Given the description of an element on the screen output the (x, y) to click on. 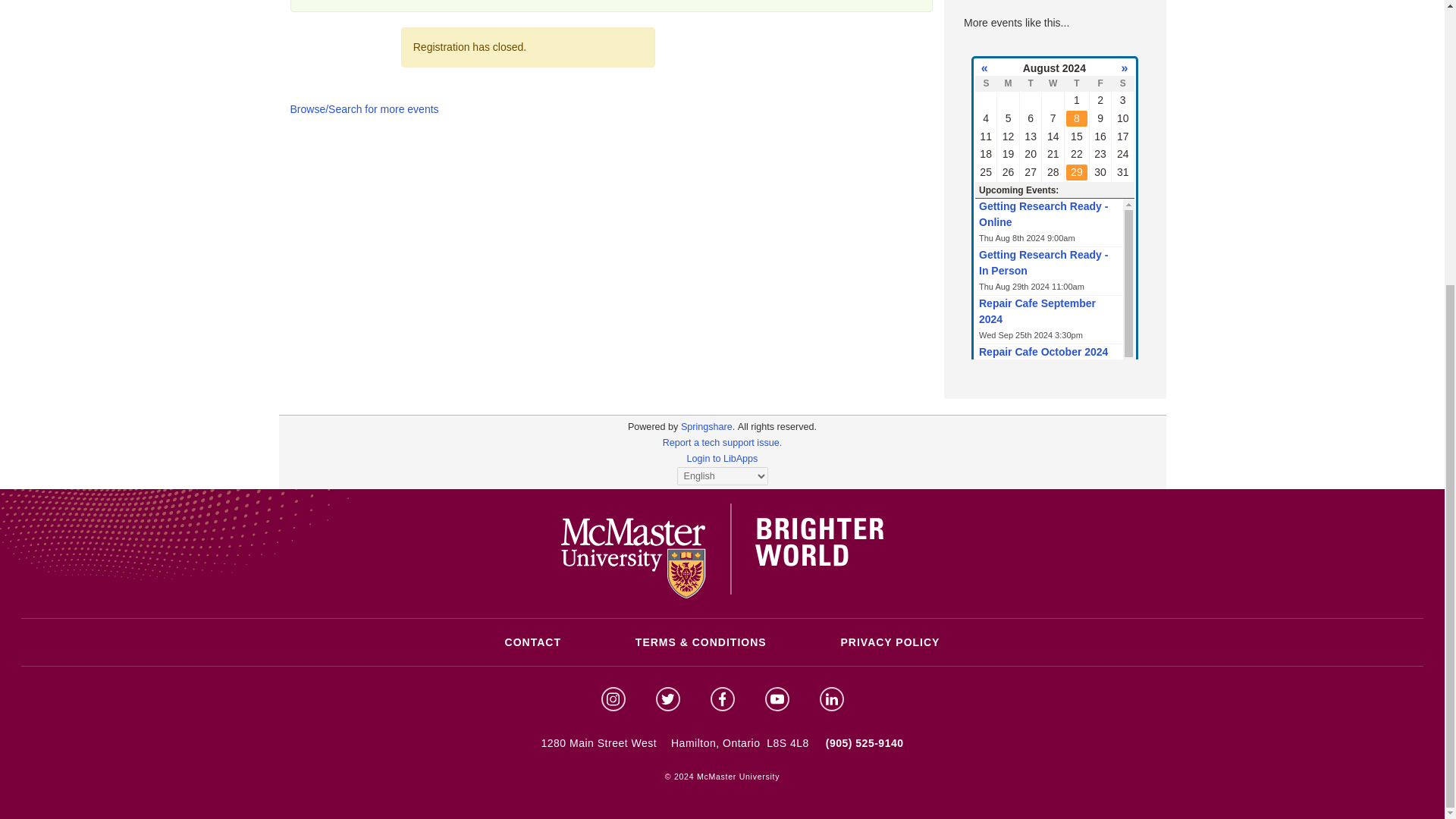
libcal-ca-1 (652, 426)
